Given the description of an element on the screen output the (x, y) to click on. 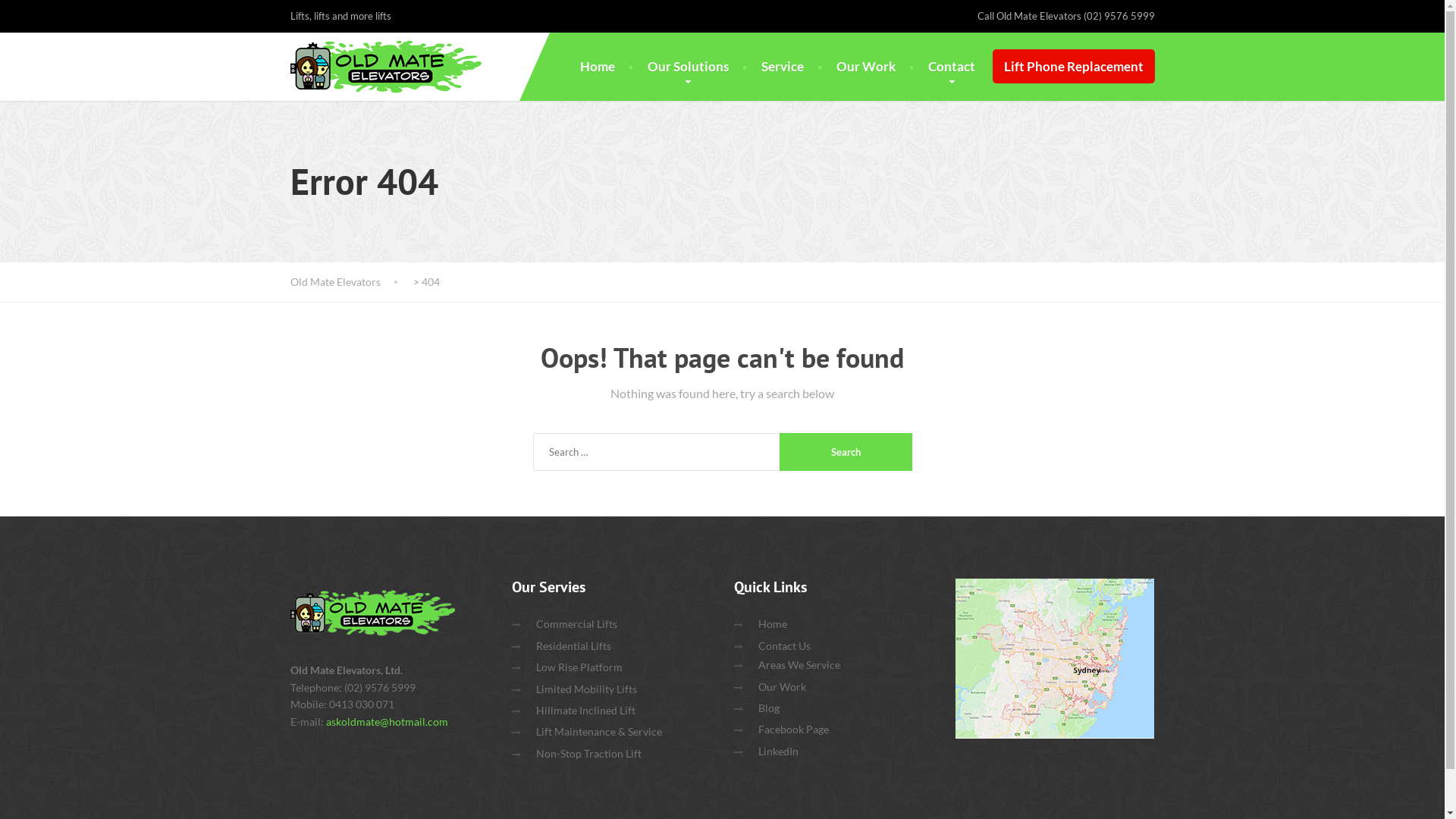
Old Mate Elevators Element type: hover (384, 66)
Blog Element type: text (768, 707)
Facebook Page Element type: text (793, 729)
Residential Lifts Element type: text (573, 645)
Commercial Lifts Element type: text (576, 623)
LinkedIn Element type: text (778, 751)
Service Element type: text (782, 66)
Non-Stop Traction Lift Element type: text (588, 753)
Home Element type: text (596, 66)
Contact Us Element type: text (784, 645)
Limited Mobility Lifts Element type: text (586, 688)
Old Mate Elevators Element type: hover (371, 612)
Our Work Element type: text (865, 66)
Low Rise Platform Element type: text (579, 666)
Our Work Element type: text (782, 686)
Search Element type: text (845, 451)
Old Mate Elevators Element type: text (349, 281)
Areas We Service Element type: text (799, 664)
Lift Maintenance & Service Element type: text (599, 731)
Our Solutions Element type: text (687, 66)
askoldmate@hotmail.com Element type: text (387, 721)
Home Element type: text (772, 623)
Lift Phone Replacement Element type: text (1072, 66)
Hillmate Inclined Lift Element type: text (585, 710)
Contact Element type: text (951, 66)
